Given the description of an element on the screen output the (x, y) to click on. 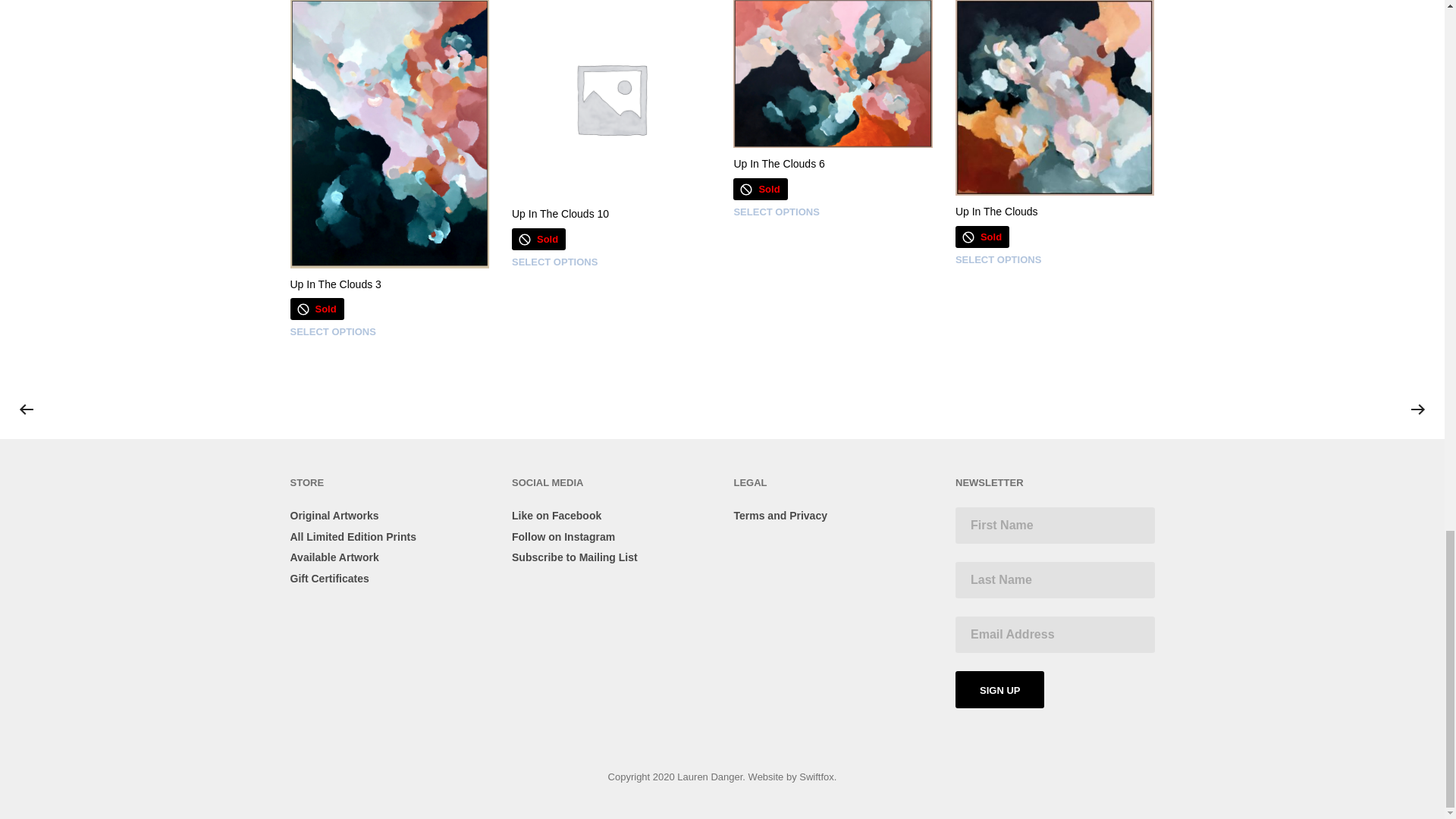
Sign Up (999, 688)
